Given the description of an element on the screen output the (x, y) to click on. 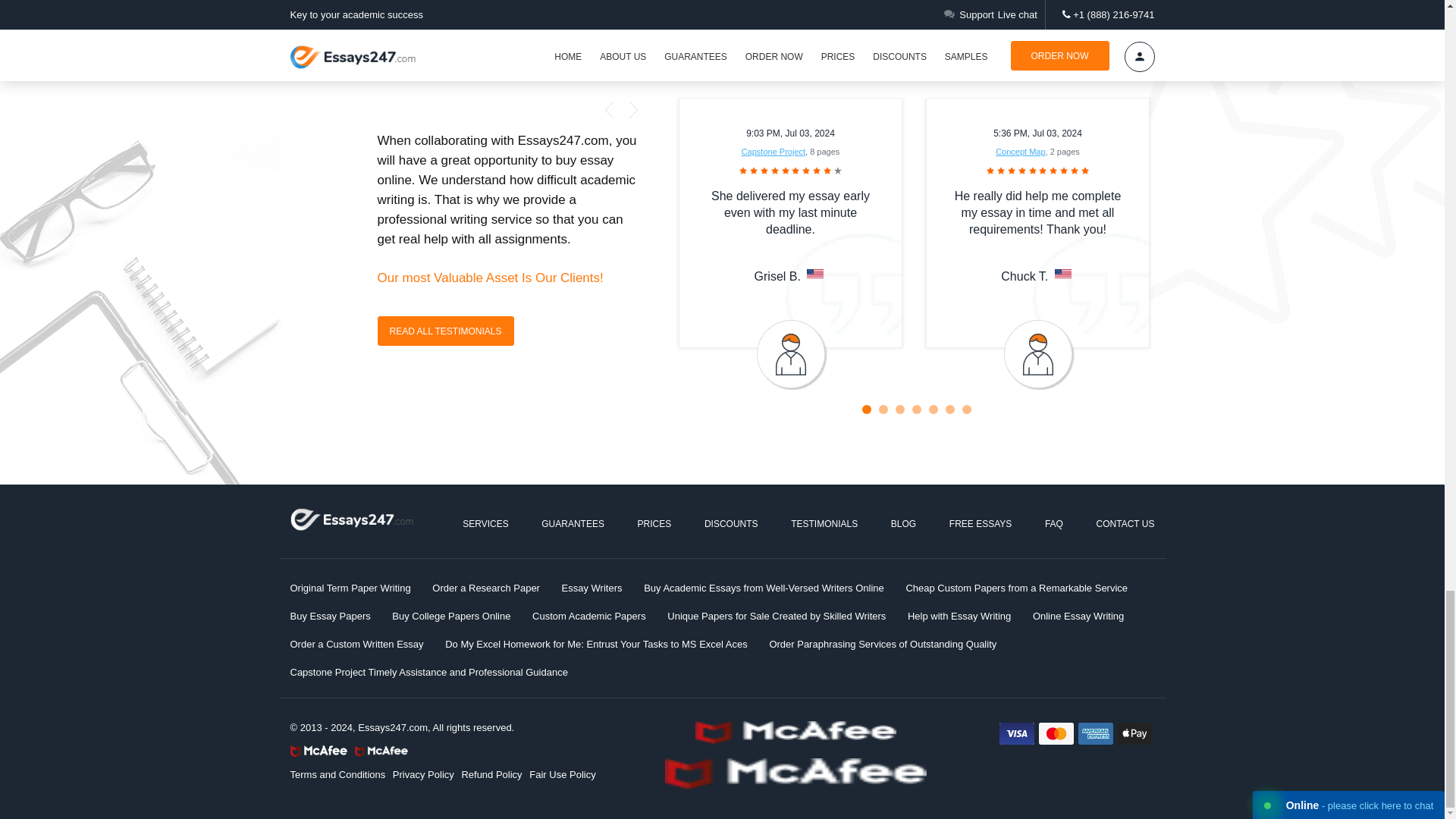
USA (815, 274)
USA (1062, 274)
